Given the description of an element on the screen output the (x, y) to click on. 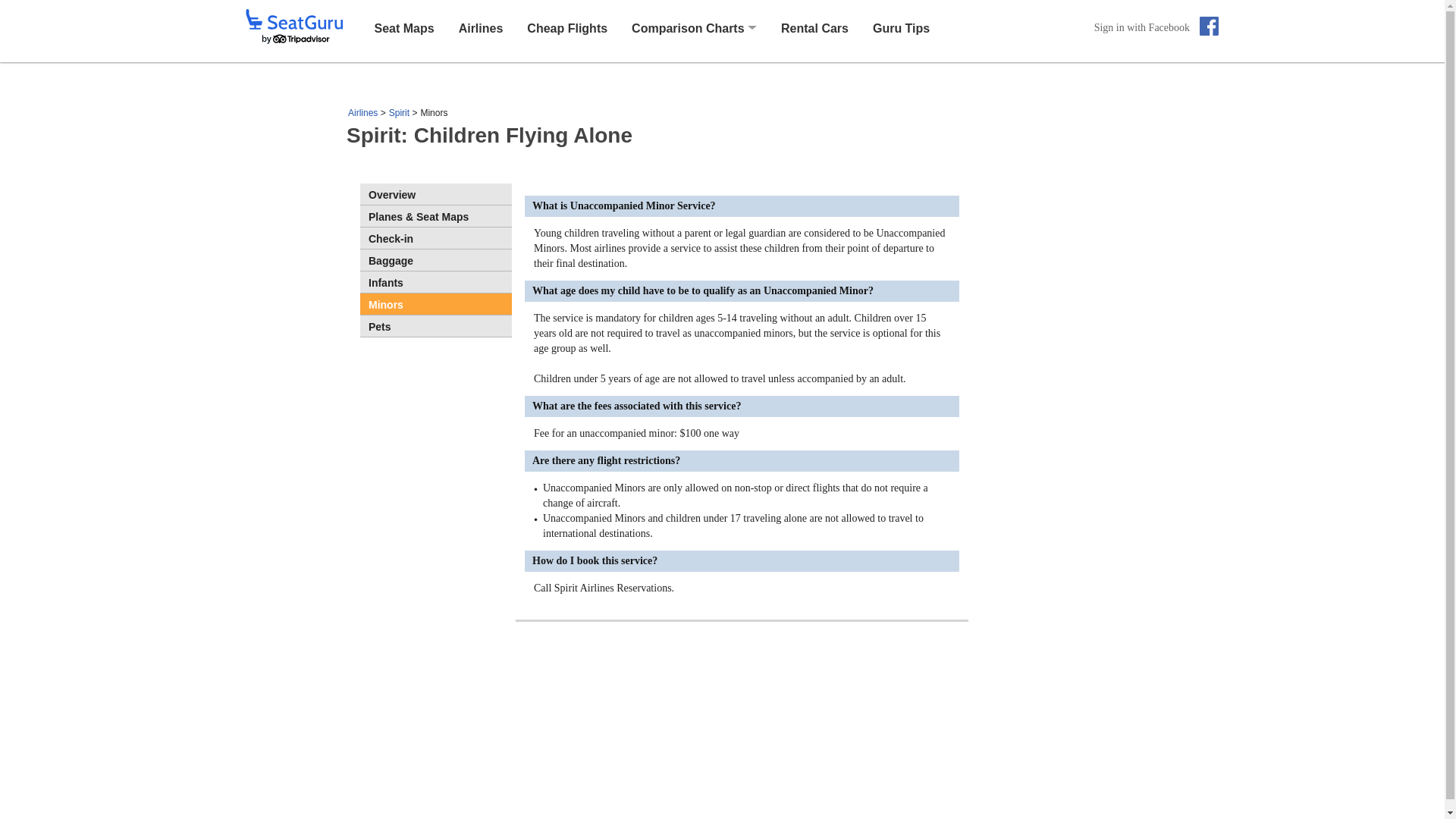
Check-in (435, 237)
Comparison Charts (687, 28)
Seat Maps (403, 27)
Rental Cars (814, 27)
Baggage (435, 260)
Infants (435, 281)
Overview (435, 193)
Pets (435, 325)
Spirit (398, 112)
Airlines (362, 112)
Guru Tips (901, 27)
Minors (435, 303)
Airlines (480, 27)
Cheap Flights (567, 27)
Sign in with Facebook (1156, 27)
